Given the description of an element on the screen output the (x, y) to click on. 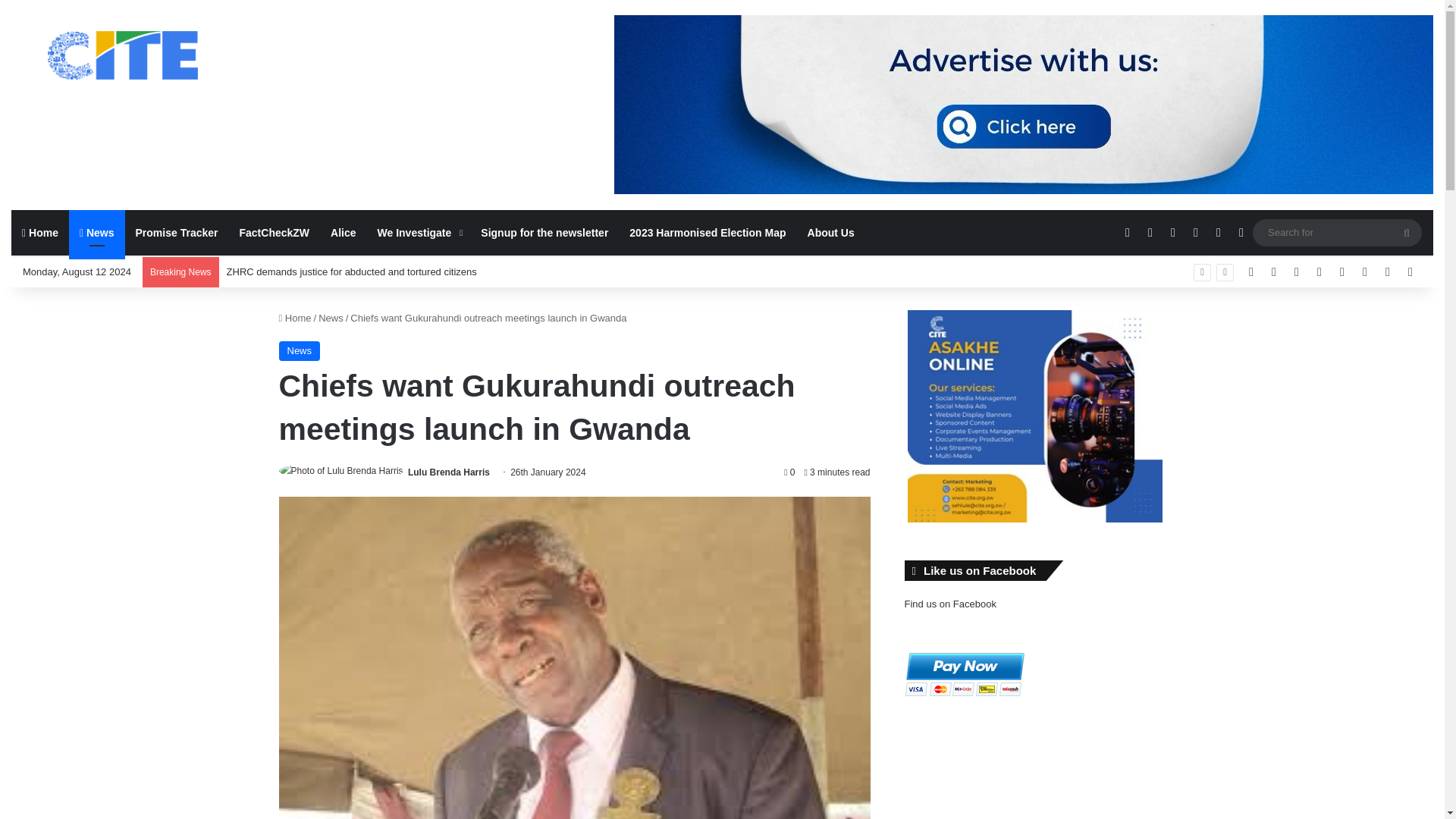
Home (295, 317)
Search for (1337, 231)
News (330, 317)
Lulu Brenda Harris (448, 471)
News (96, 232)
Lulu Brenda Harris (448, 471)
Signup for the newsletter (544, 232)
ZHRC demands justice for abducted and tortured citizens (352, 271)
News (299, 351)
FactCheckZW (274, 232)
